Given the description of an element on the screen output the (x, y) to click on. 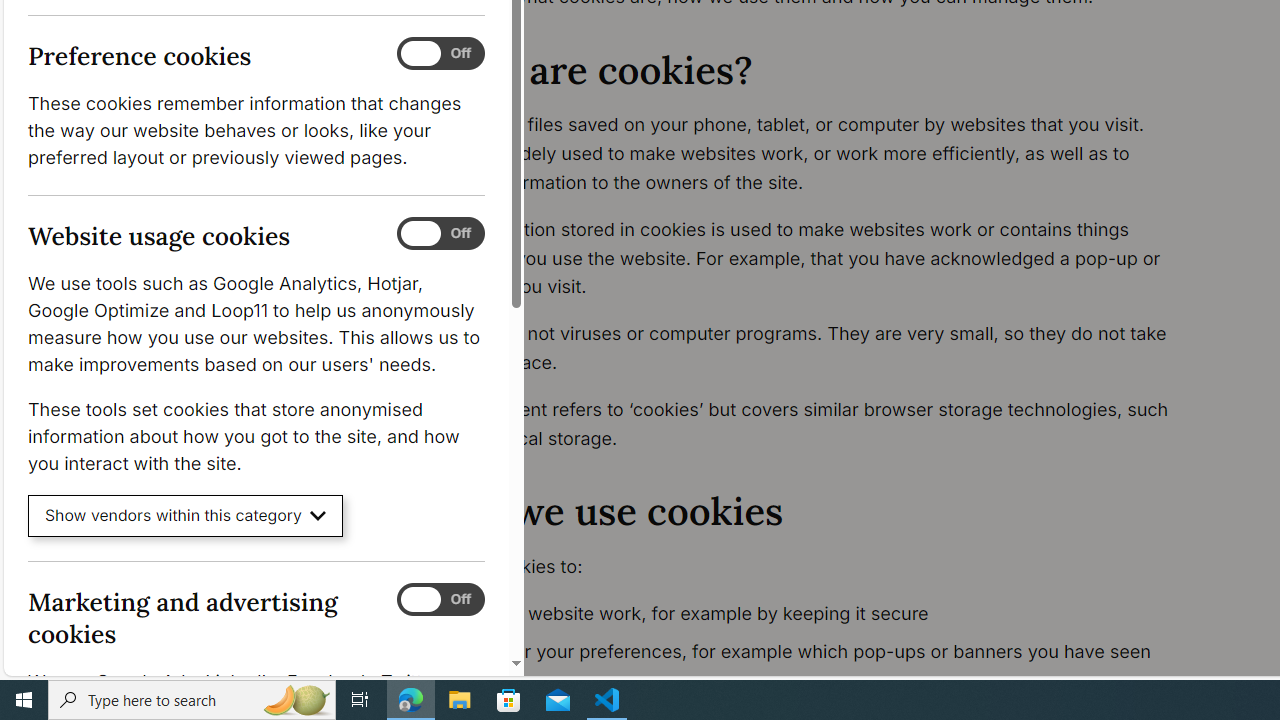
Website usage cookies (440, 233)
Marketing and advertising cookies (440, 599)
make our website work, for example by keeping it secure (818, 614)
Preference cookies (440, 53)
Show vendors within this category (185, 516)
